Given the description of an element on the screen output the (x, y) to click on. 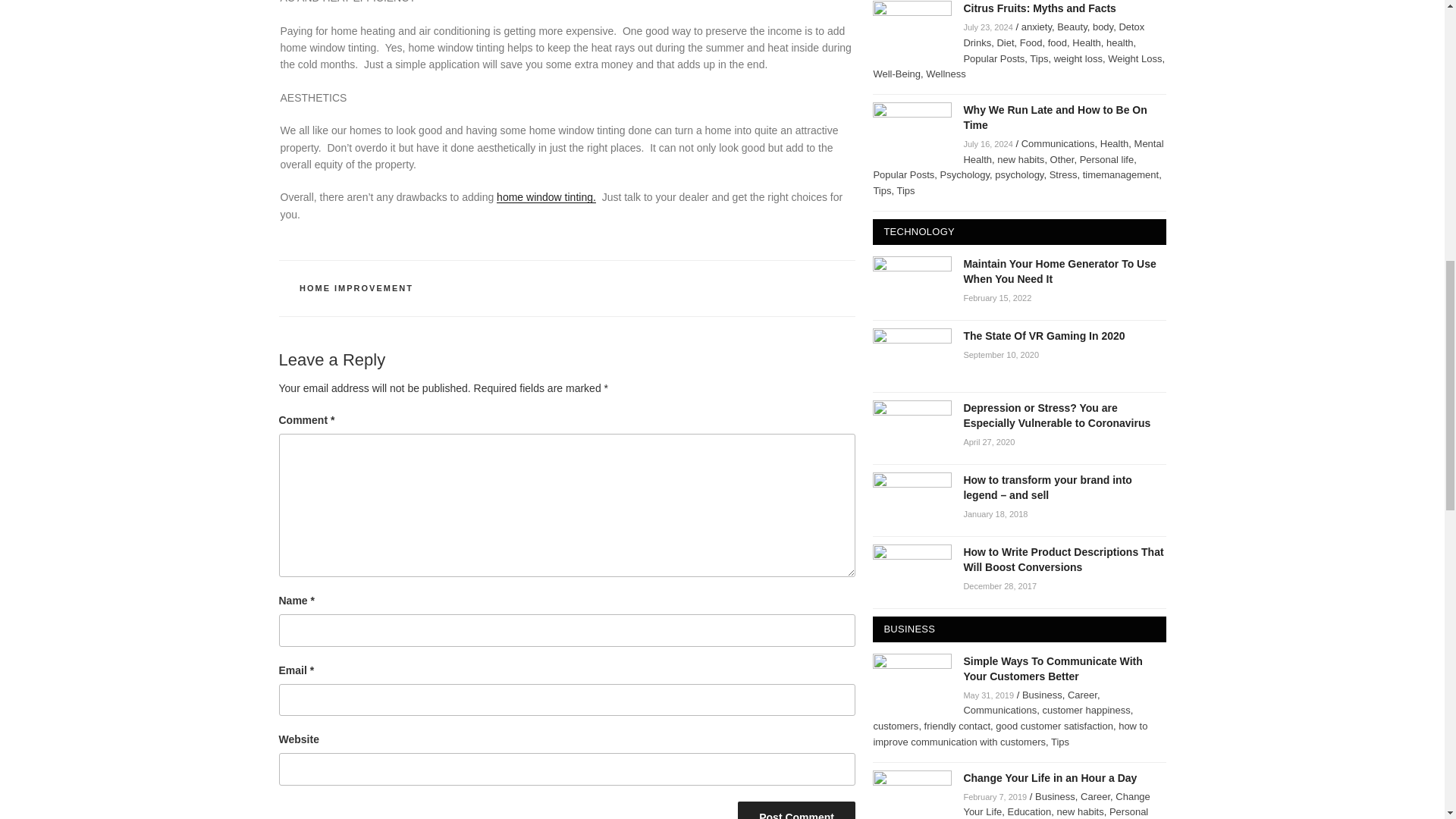
home window tinting. (545, 196)
home window tinting (545, 196)
Post Comment (797, 810)
HOME IMPROVEMENT (356, 287)
Post Comment (797, 810)
